Given the description of an element on the screen output the (x, y) to click on. 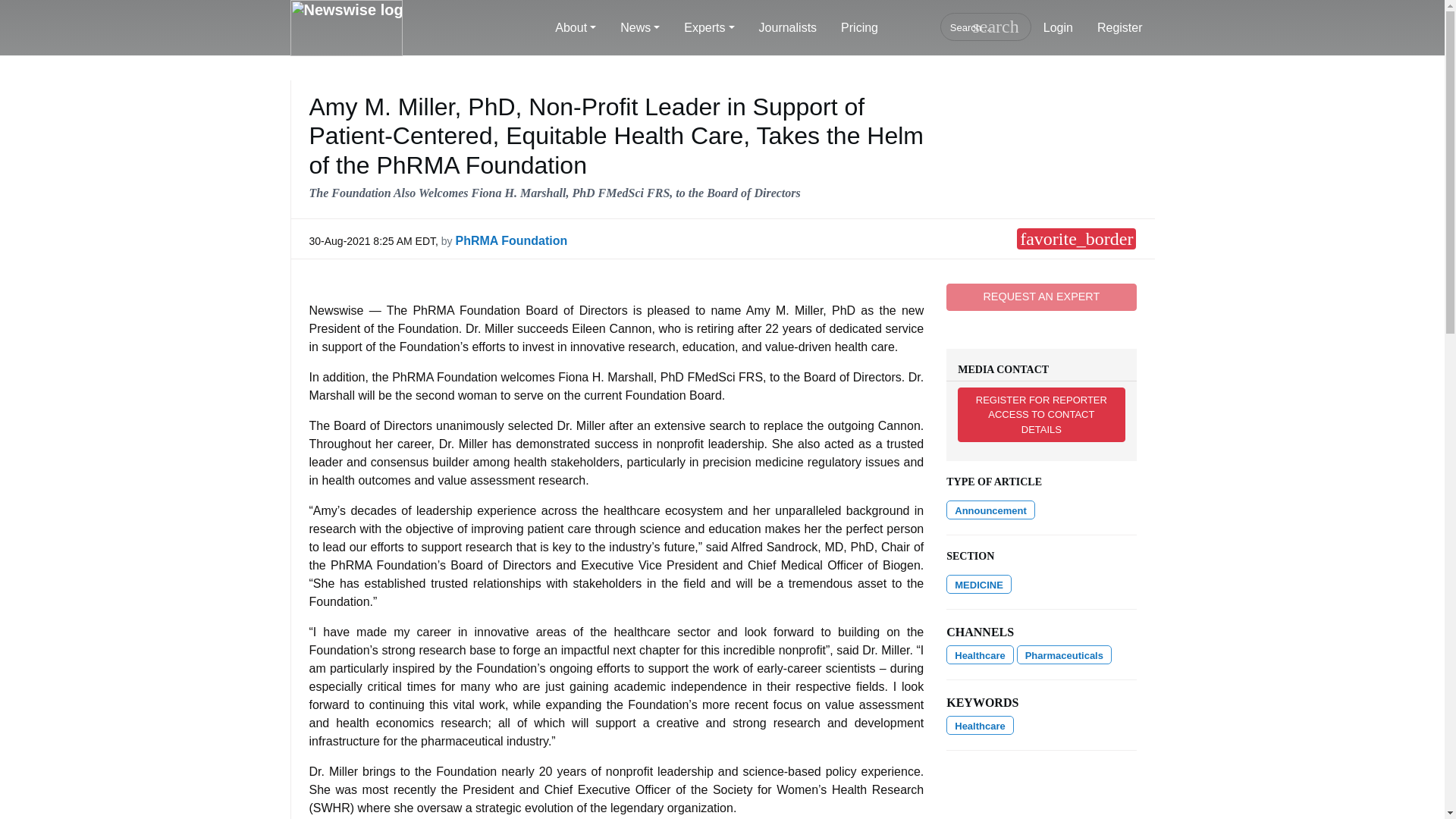
Search for articles tagged with this keyword or phrase (979, 724)
News (639, 27)
Show all articles in this channel (1064, 654)
Show all articles in this channel (978, 583)
Show all articles in this channel (979, 654)
Add to Favorites (1075, 238)
About (575, 27)
Newswise logo (345, 28)
Announcement (990, 509)
